Given the description of an element on the screen output the (x, y) to click on. 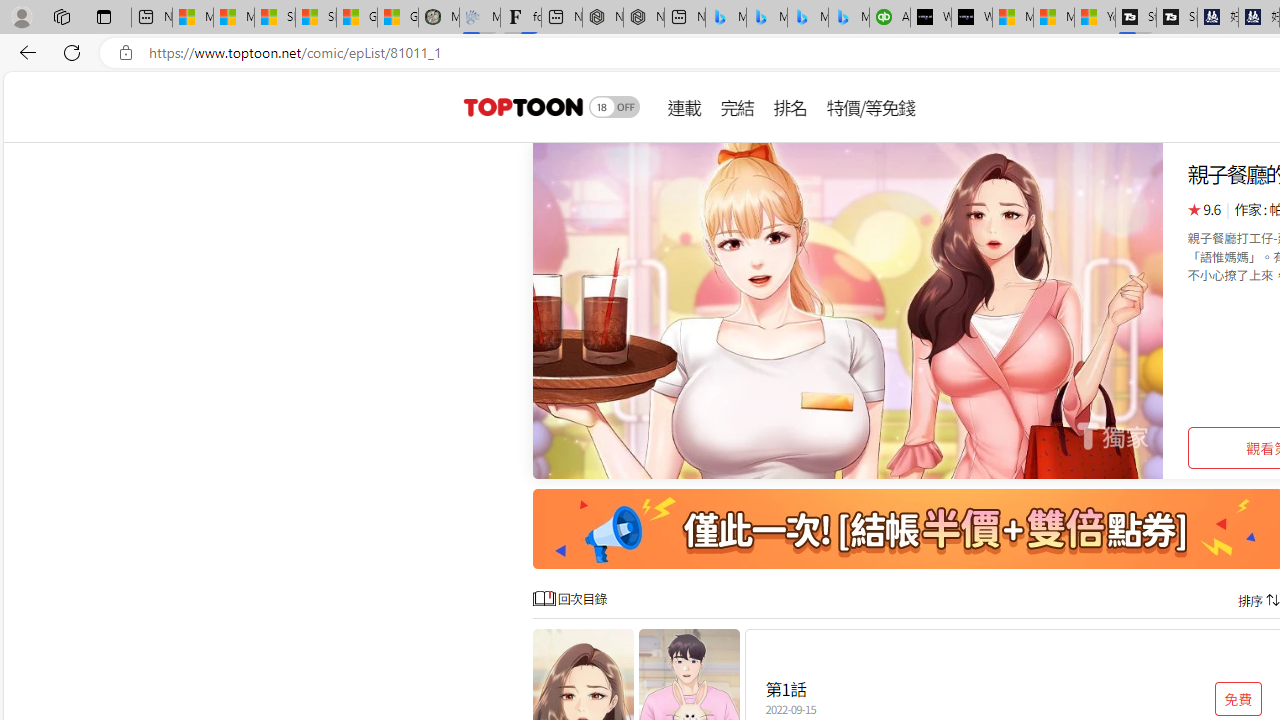
Microsoft Start (1053, 17)
Class: swiper-slide (847, 310)
header (519, 106)
Microsoft Bing Travel - Shangri-La Hotel Bangkok (849, 17)
